Given the description of an element on the screen output the (x, y) to click on. 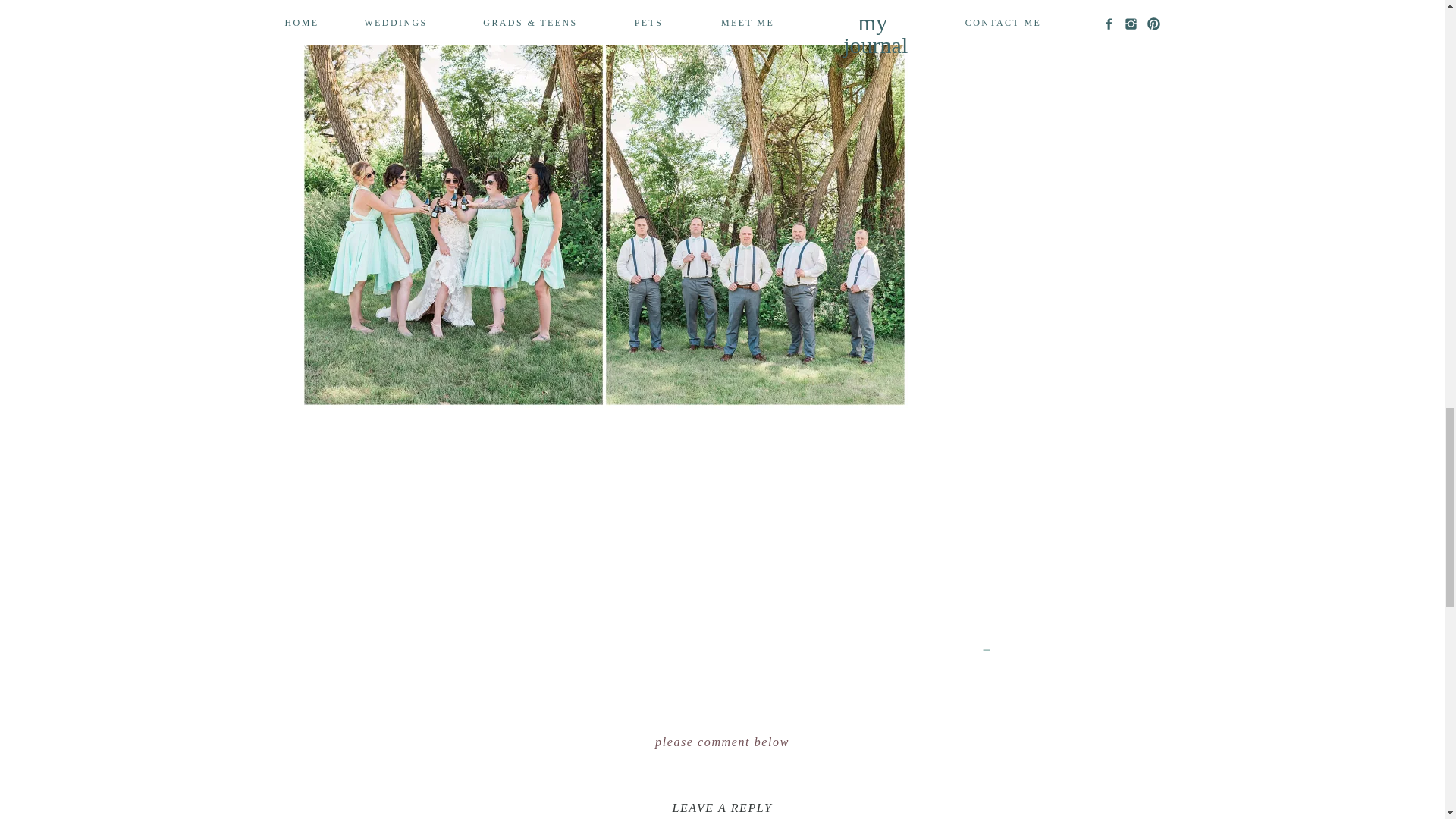
please comment below (722, 741)
